Given the description of an element on the screen output the (x, y) to click on. 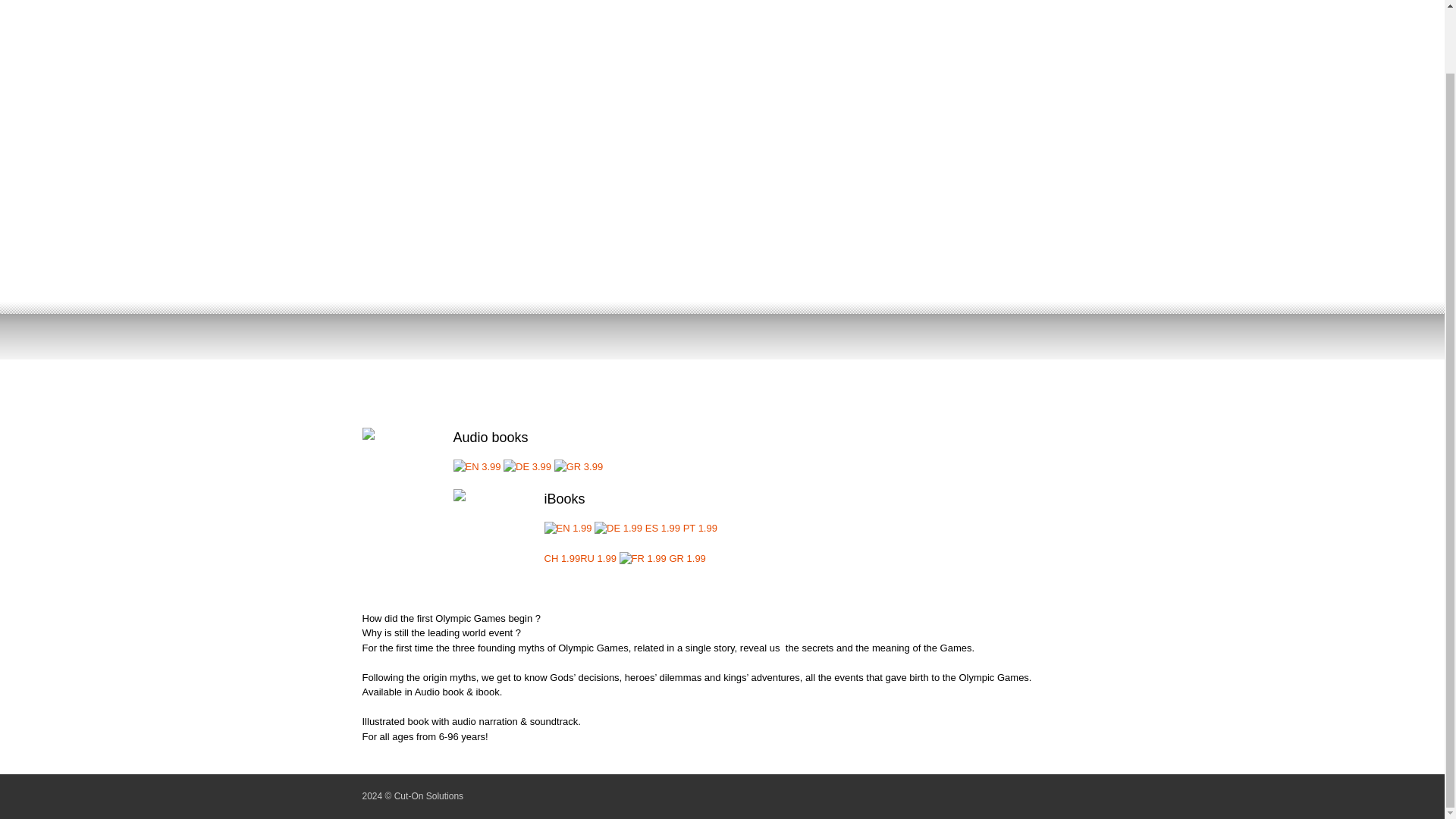
PT 1.99 (699, 527)
GR 1.99 (686, 558)
GR 3.99 (578, 466)
EN 3.99 (476, 466)
RU 1.99 (597, 558)
ES 1.99 (662, 527)
DE 3.99 (527, 466)
FR 1.99 (643, 558)
EN 1.99 (568, 527)
DE 1.99 (618, 527)
